Given the description of an element on the screen output the (x, y) to click on. 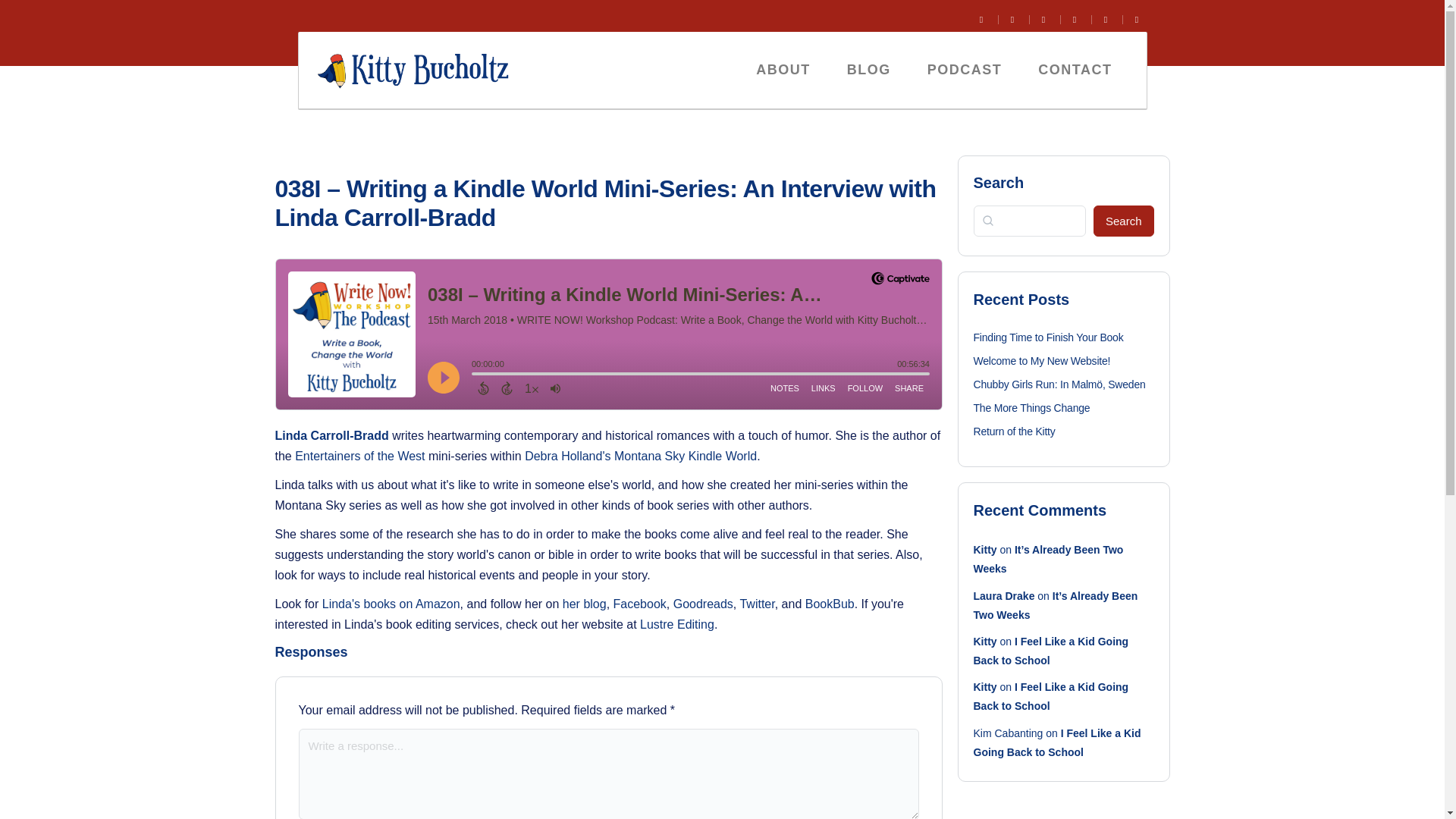
BLOG (868, 69)
Finding Time to Finish Your Book (1049, 337)
Linda Carroll-Bradd (331, 435)
CONTACT (1074, 69)
Laura Drake (1004, 595)
Entertainers of the West (360, 455)
Twitter (756, 603)
her blog (584, 603)
I Feel Like a Kid Going Back to School (1051, 650)
Debra Holland's Montana Sky Kindle World (640, 455)
